Given the description of an element on the screen output the (x, y) to click on. 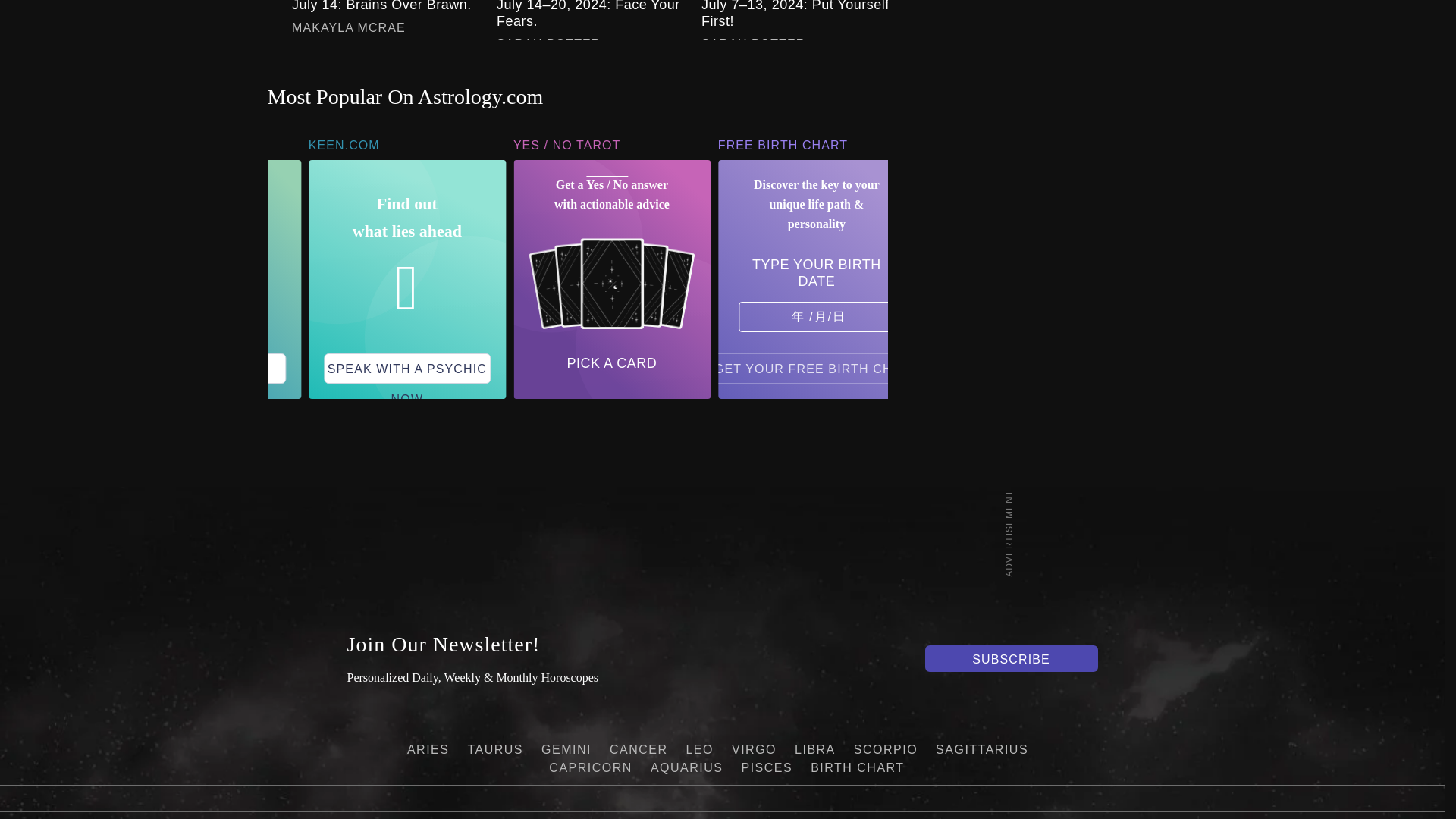
Get your free birth chart (816, 368)
